Given the description of an element on the screen output the (x, y) to click on. 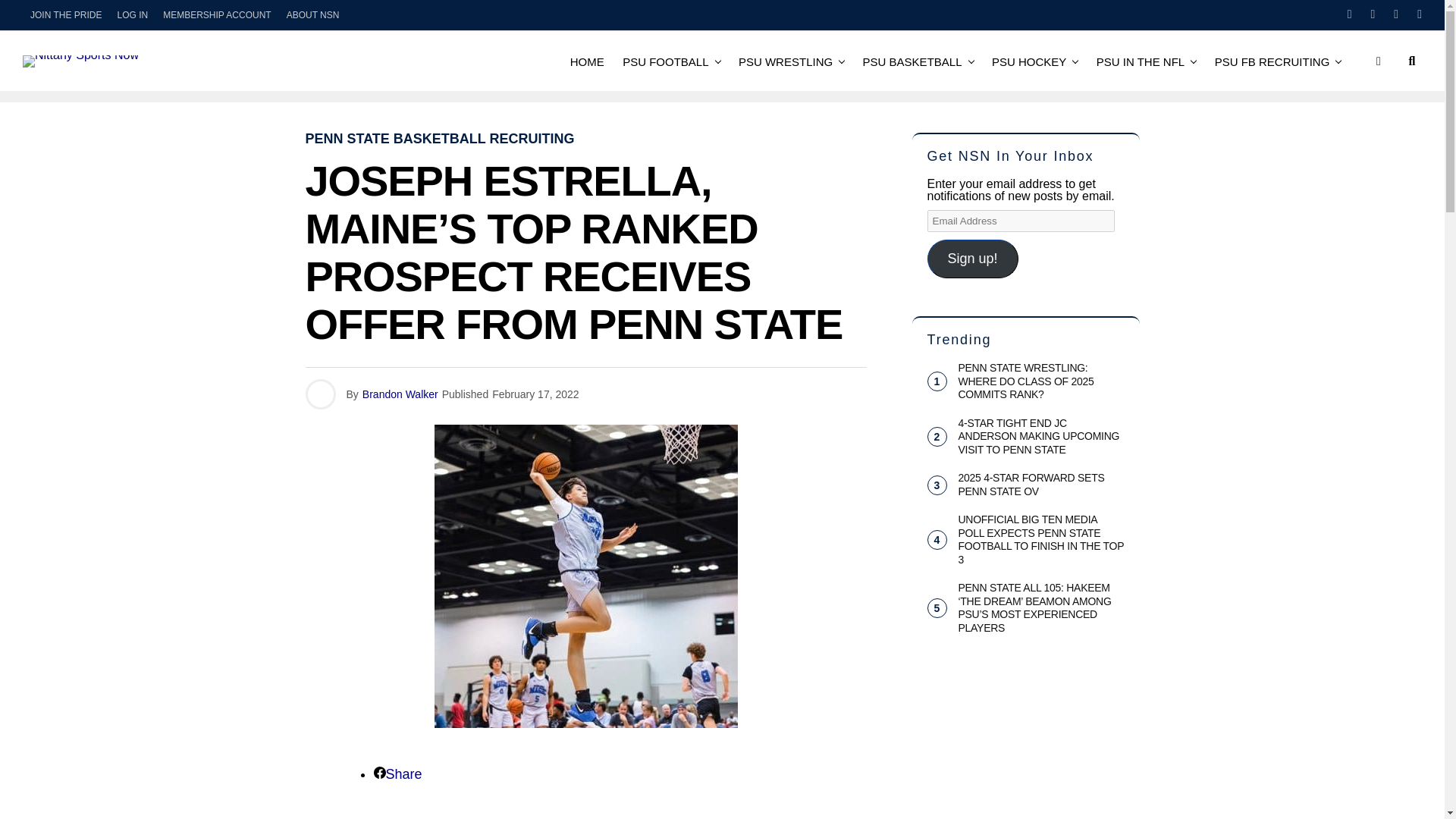
Posts by Brandon Walker (400, 394)
PSU FOOTBALL (665, 61)
LOG IN (132, 15)
JOIN THE PRIDE (66, 15)
Share on Share (397, 774)
MEMBERSHIP ACCOUNT (216, 15)
ABOUT NSN (313, 15)
PSU WRESTLING (785, 61)
